Given the description of an element on the screen output the (x, y) to click on. 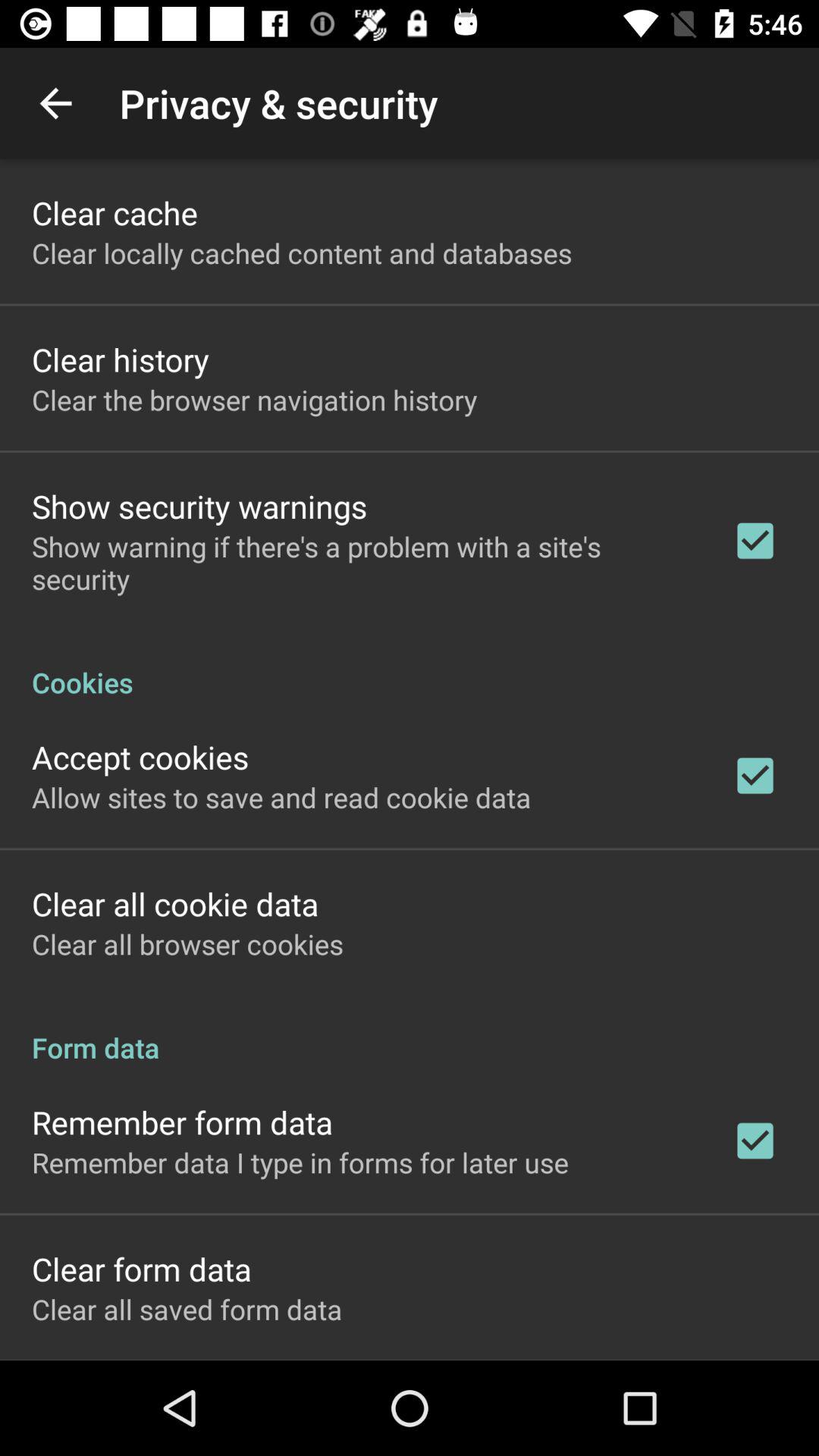
swipe until the clear cache app (114, 212)
